Given the description of an element on the screen output the (x, y) to click on. 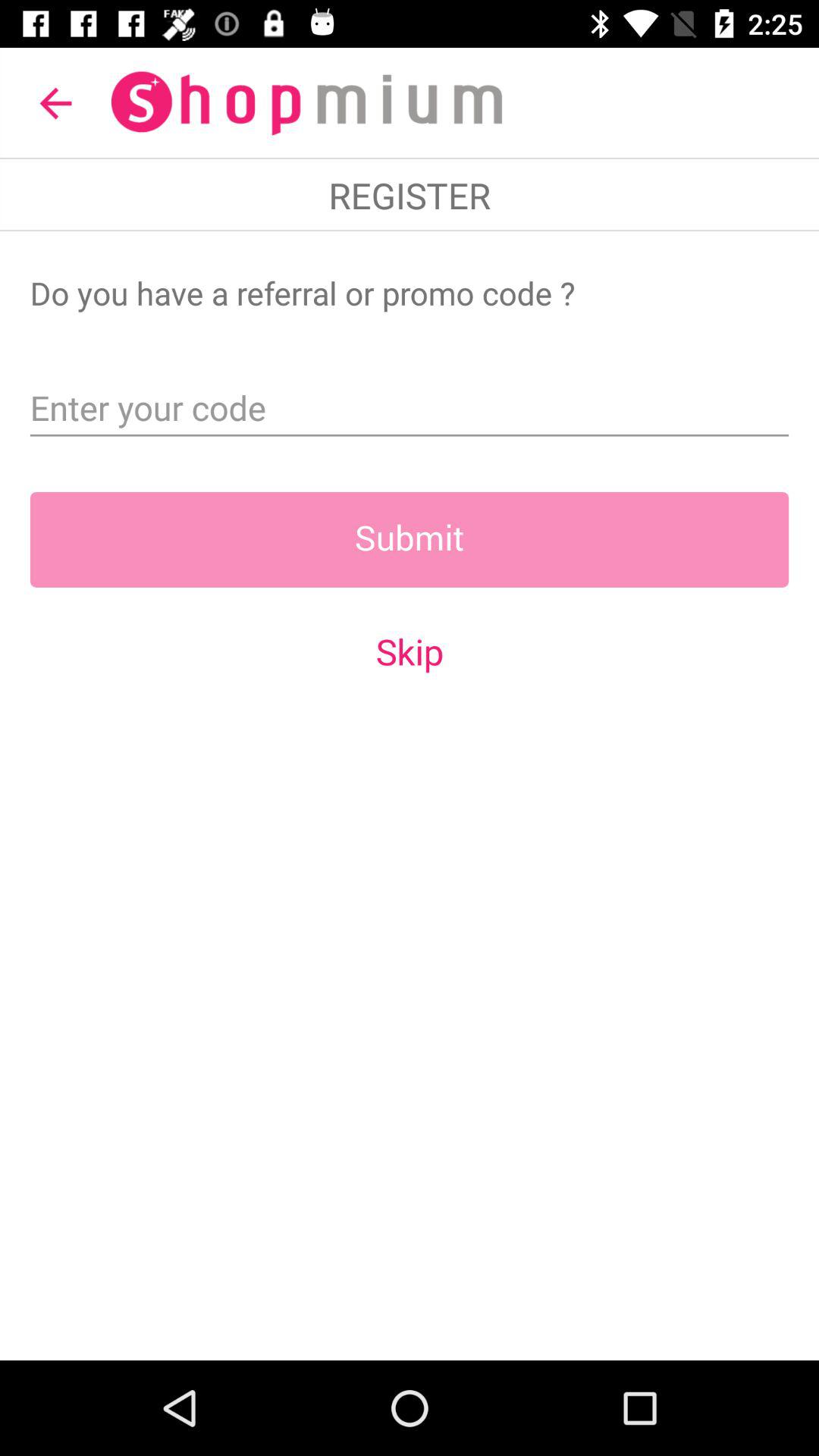
turn off icon above register (55, 103)
